Given the description of an element on the screen output the (x, y) to click on. 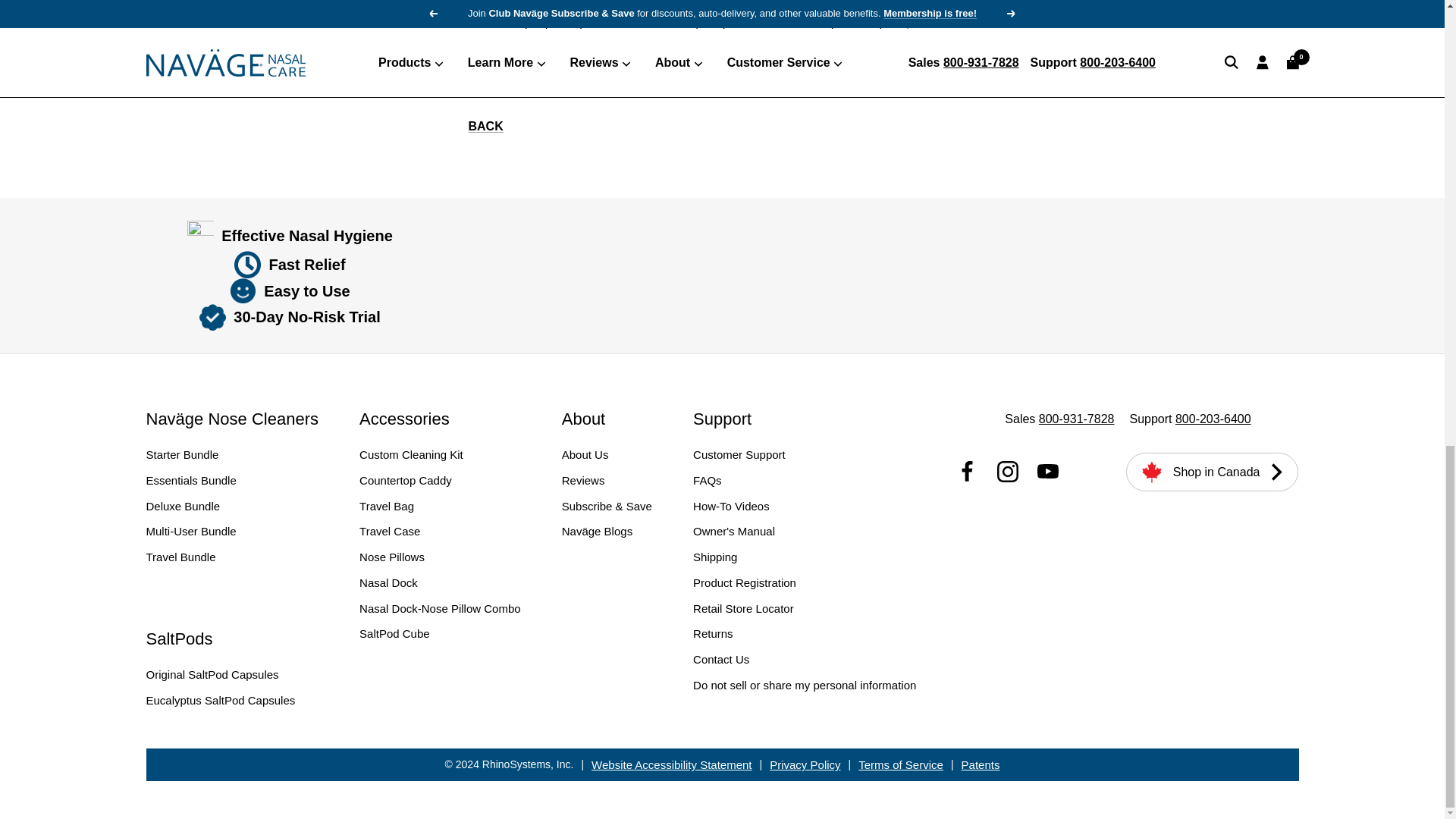
Starter Bundle (181, 455)
Nasal Dock (388, 582)
Multi-User Bundle (190, 531)
Nasal Dock-Nose Pillow Combo (440, 608)
BACK (485, 125)
Travel Bag (386, 506)
Custom Cleaning Kit (411, 455)
Reviews (583, 480)
Nose Pillows (392, 557)
Essentials Bundle (190, 480)
Original SaltPod Capsules (211, 674)
About Us (585, 455)
Eucalyptus SaltPod Capsules (220, 700)
Travel Case (389, 531)
Deluxe Bundle (182, 506)
